Given the description of an element on the screen output the (x, y) to click on. 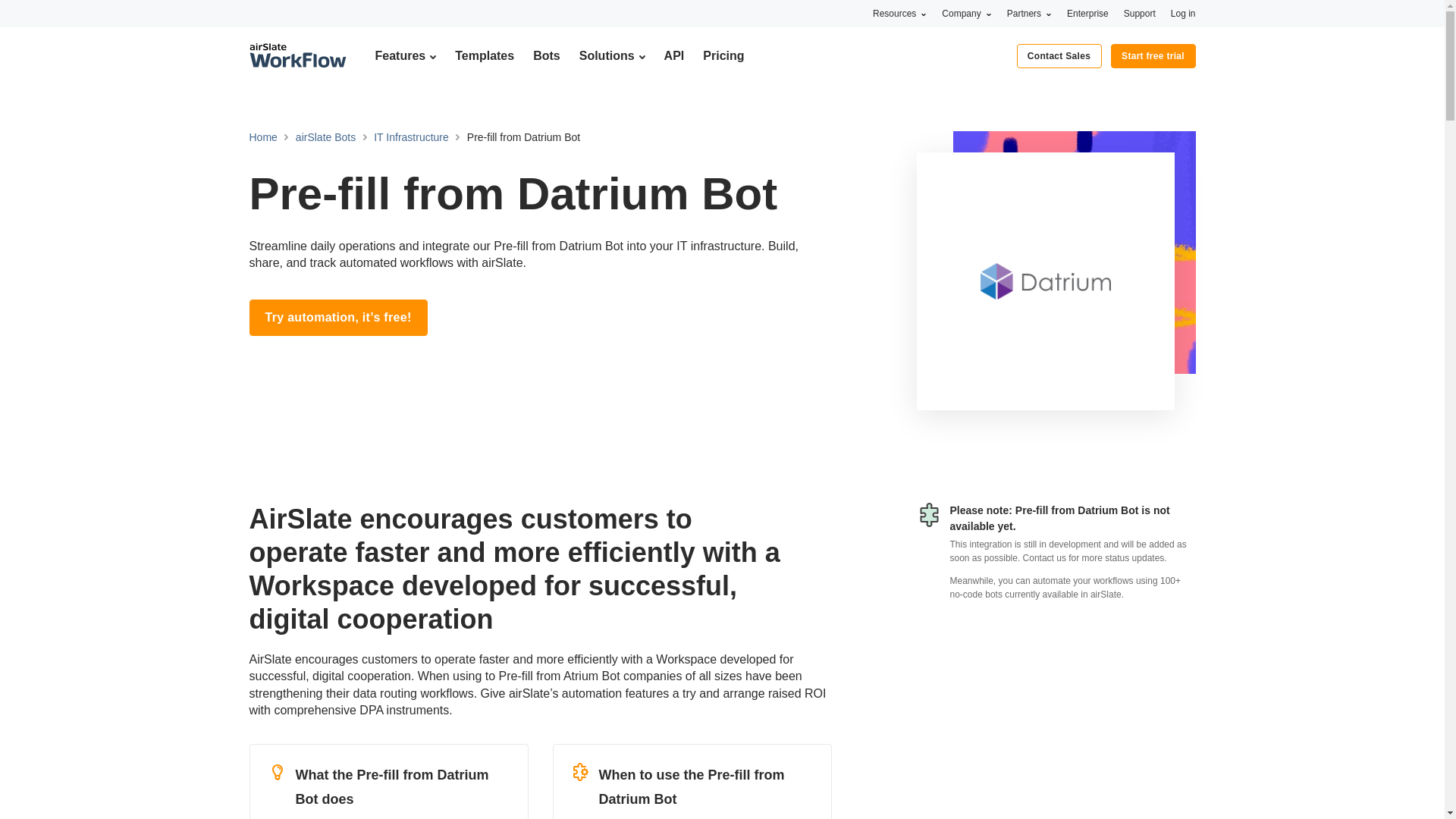
Partners (1029, 13)
Resources (899, 13)
Log in (1182, 13)
Templates (483, 55)
Support (1140, 13)
Enterprise (1087, 13)
Company (966, 13)
